Given the description of an element on the screen output the (x, y) to click on. 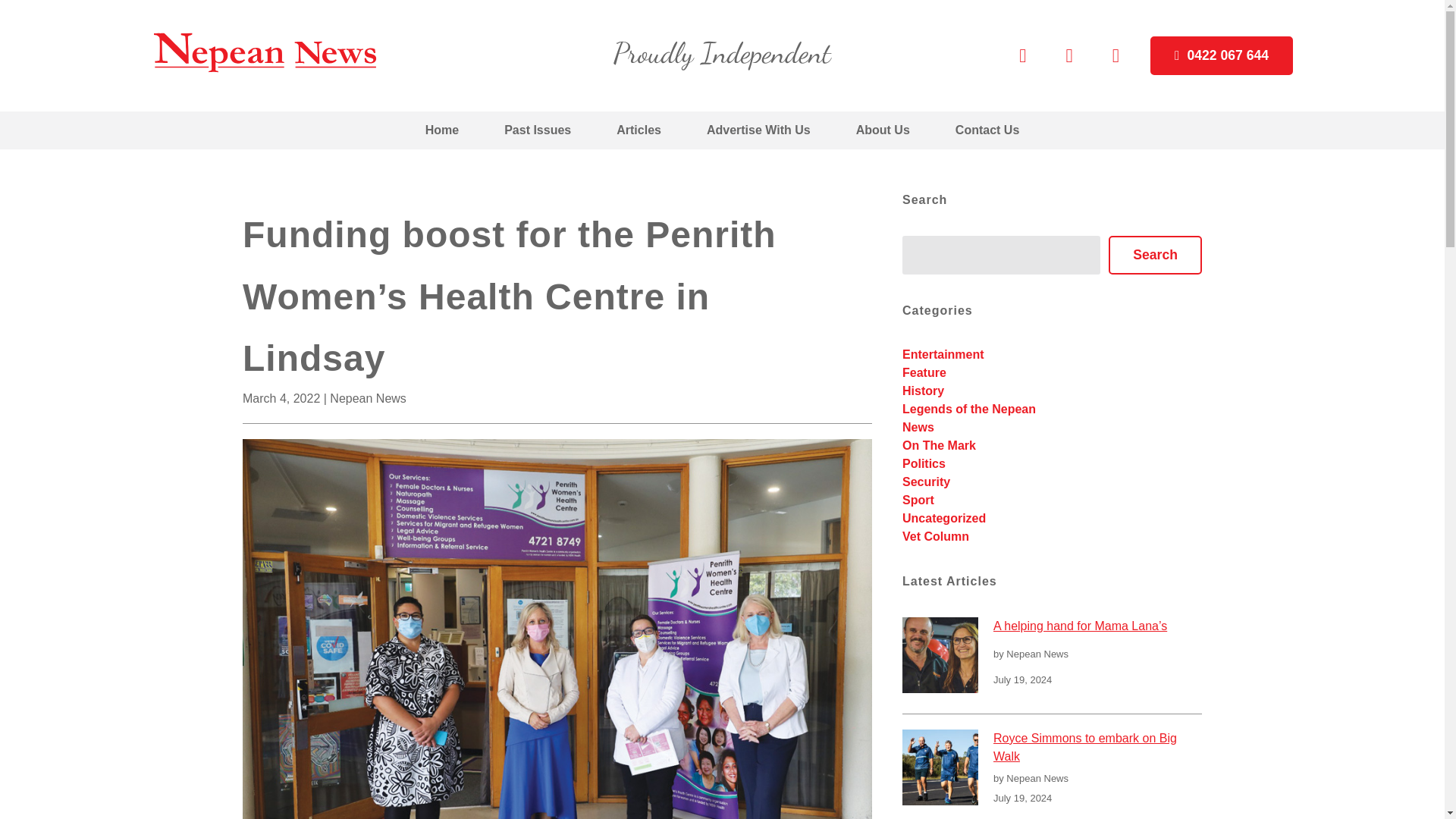
Contact Us (986, 130)
Search (1155, 255)
Security (926, 481)
Feature (924, 372)
Legends of the Nepean (968, 408)
Entertainment (943, 354)
Home (442, 130)
0422 067 644 (1221, 56)
Uncategorized (943, 517)
Vet Column (935, 535)
Politics (923, 463)
Sport (918, 499)
About Us (882, 130)
Past Issues (537, 130)
News (918, 427)
